Given the description of an element on the screen output the (x, y) to click on. 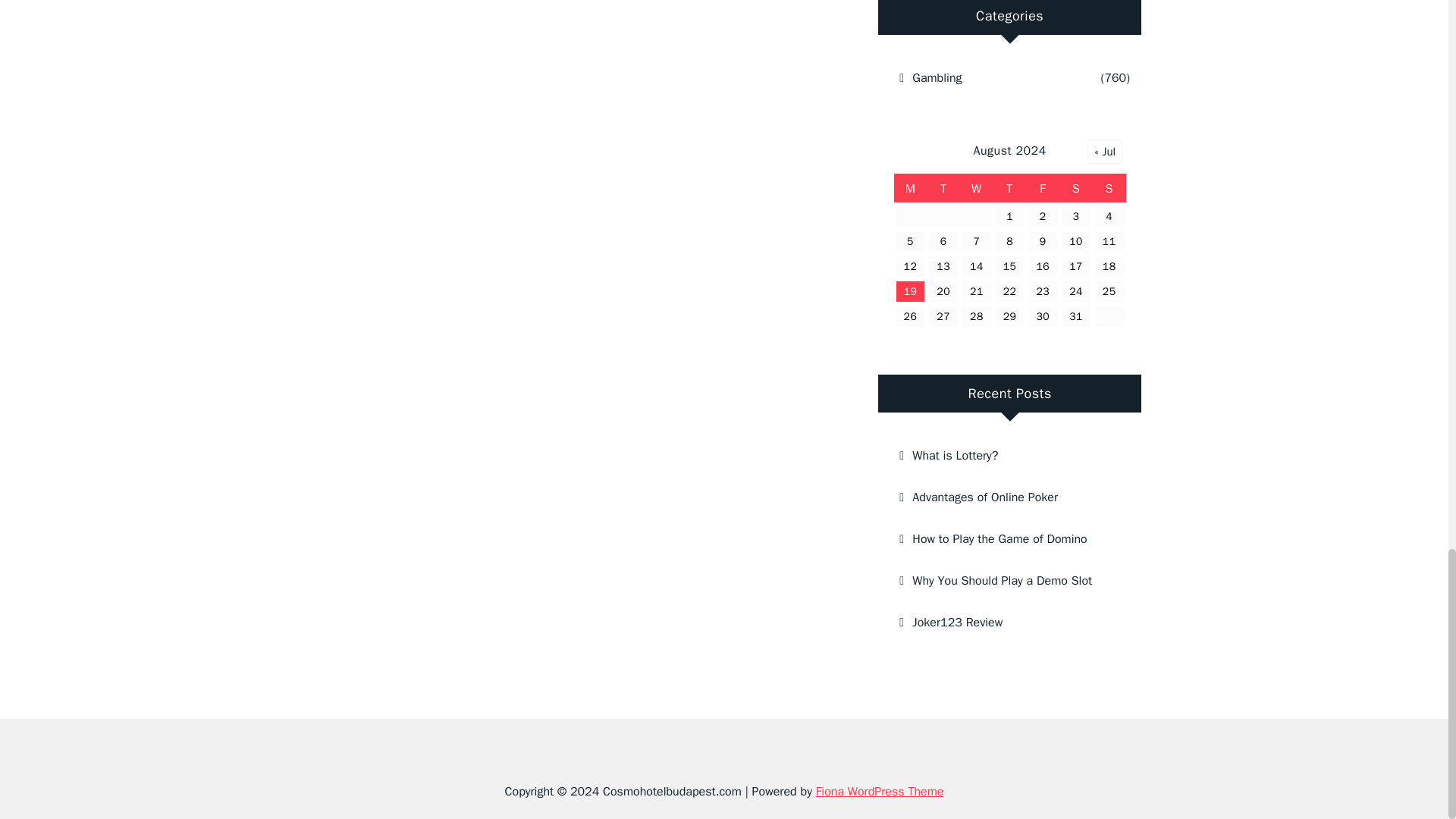
Friday (1042, 188)
Saturday (1076, 188)
Wednesday (975, 188)
Monday (910, 188)
Tuesday (942, 188)
Thursday (1009, 188)
Sunday (1109, 188)
